Given the description of an element on the screen output the (x, y) to click on. 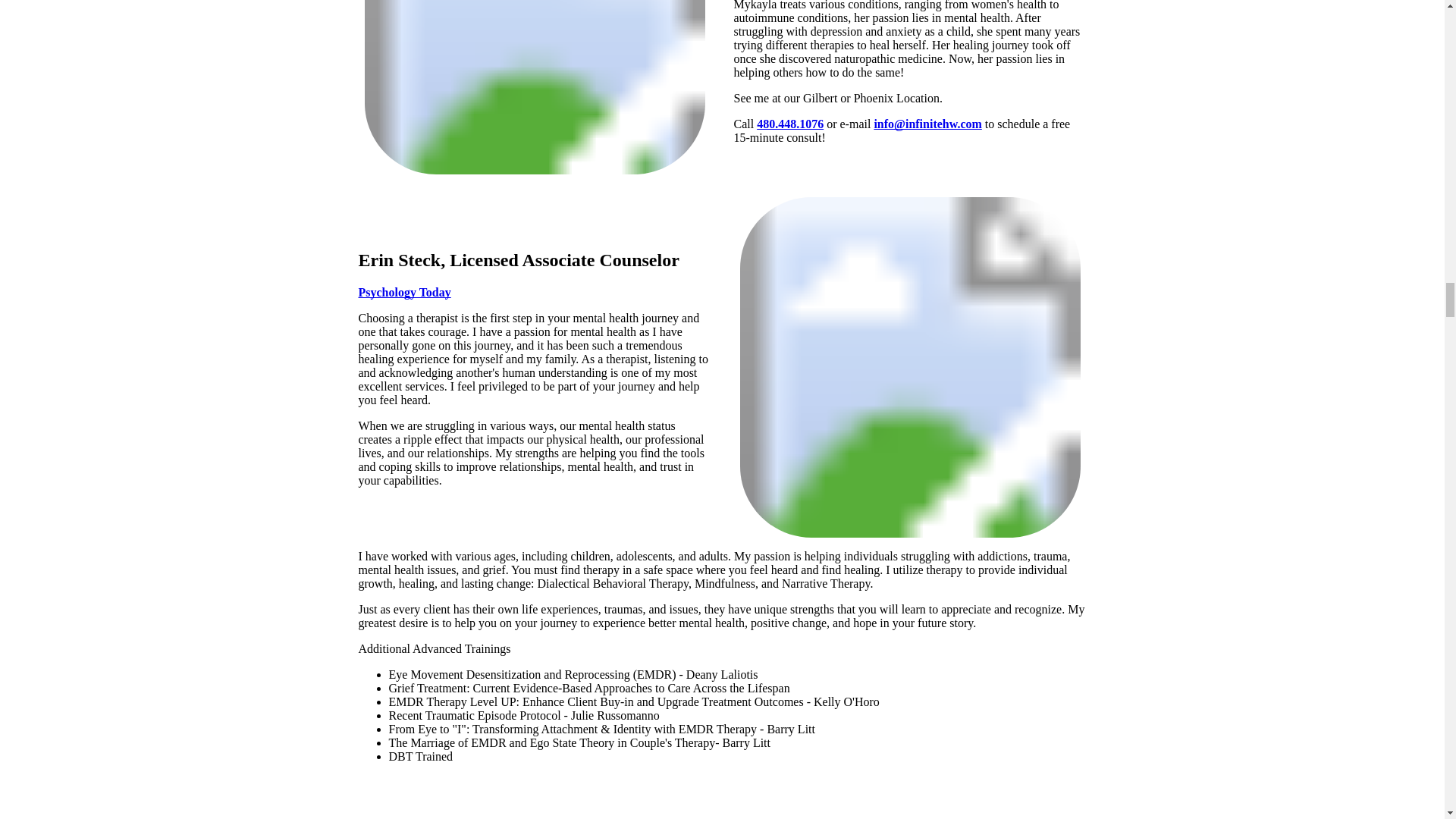
Erin Steck - Phoenix, AZ - Infinite Healing and Wellness (909, 367)
